Given the description of an element on the screen output the (x, y) to click on. 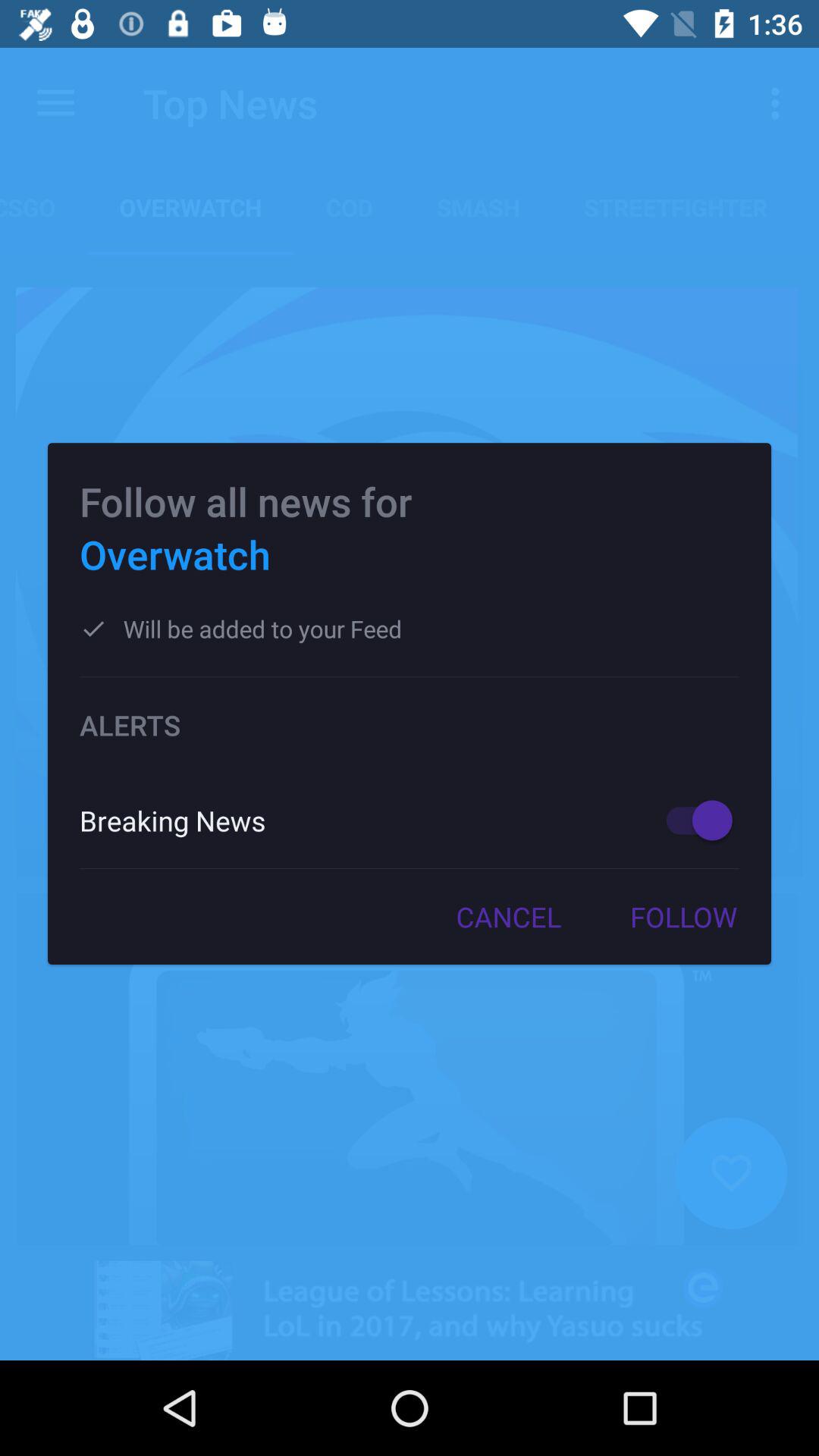
toggle breaking news on or off (691, 820)
